Given the description of an element on the screen output the (x, y) to click on. 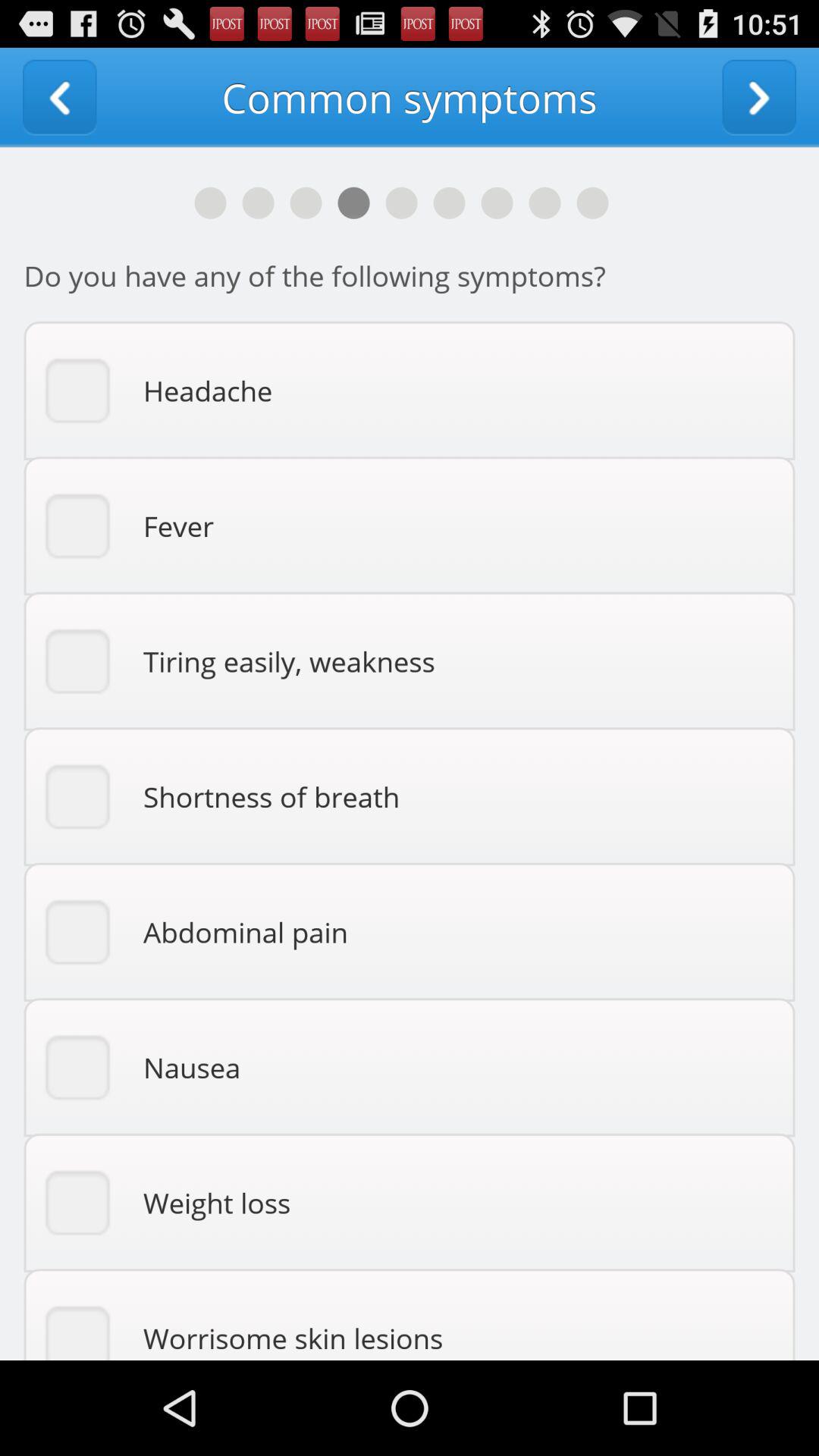
next (759, 97)
